Given the description of an element on the screen output the (x, y) to click on. 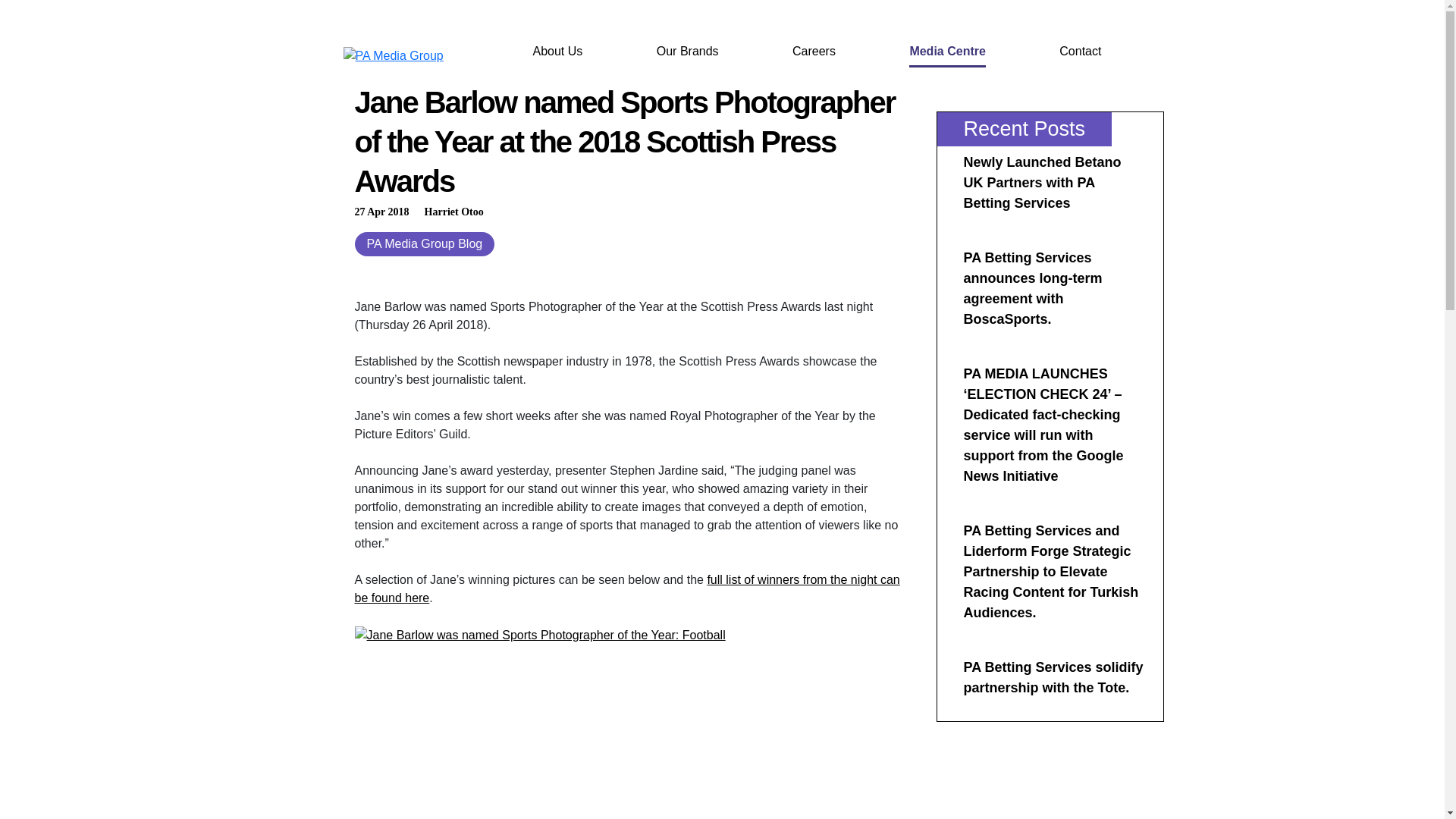
PA Betting Services solidify partnership with the Tote. (1052, 677)
Careers (813, 51)
Contact (1079, 51)
Our Brands (687, 51)
PA Media Group Blog (425, 243)
Newly Launched Betano UK Partners with PA Betting Services (1041, 182)
full list of winners from the night can be found here (627, 588)
Media Centre (946, 52)
About Us (557, 51)
